Given the description of an element on the screen output the (x, y) to click on. 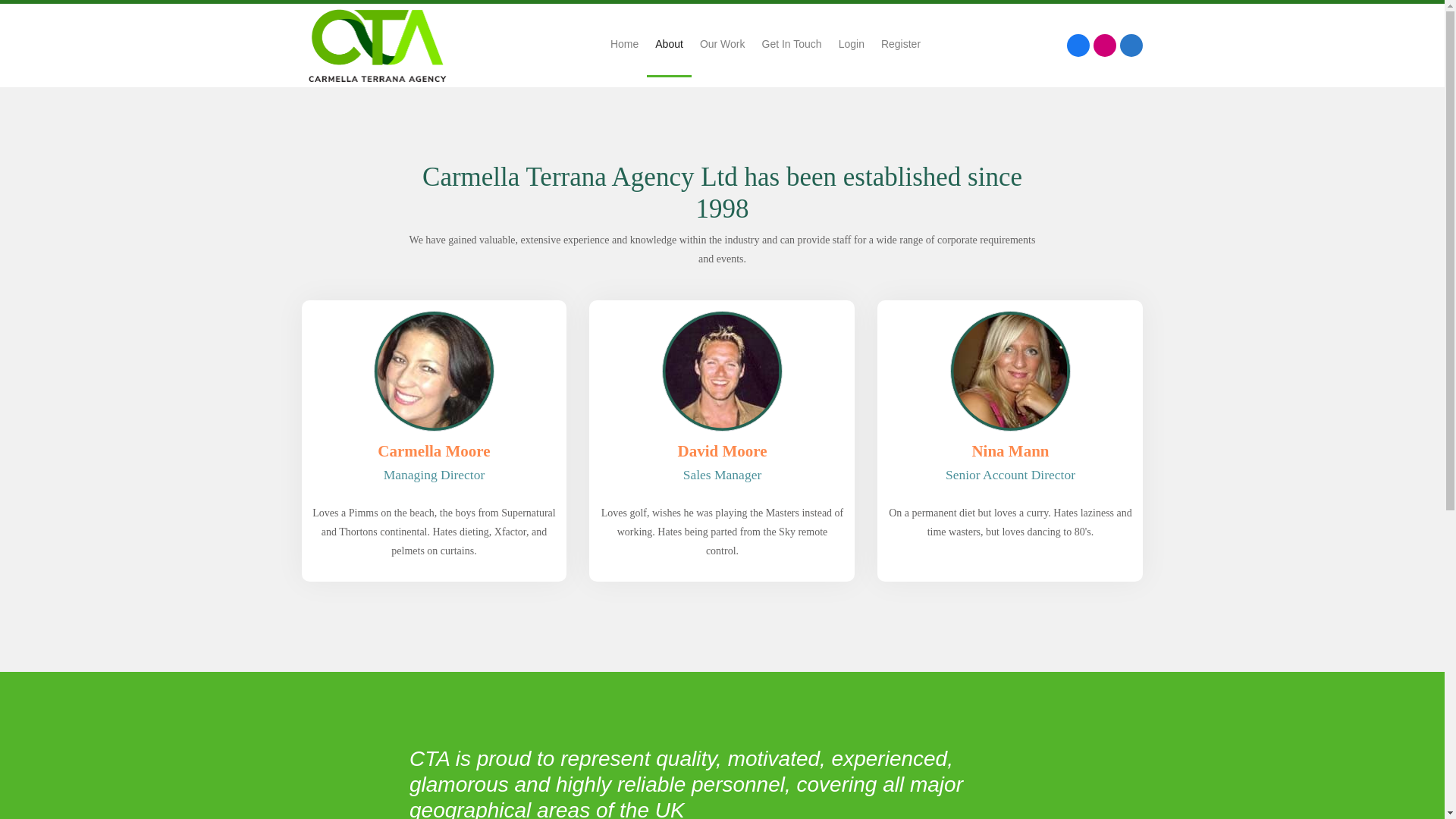
LinkedIn (1130, 45)
Get In Touch (791, 44)
Our Work (722, 44)
Facebook (1078, 45)
Instagram (1104, 45)
